Given the description of an element on the screen output the (x, y) to click on. 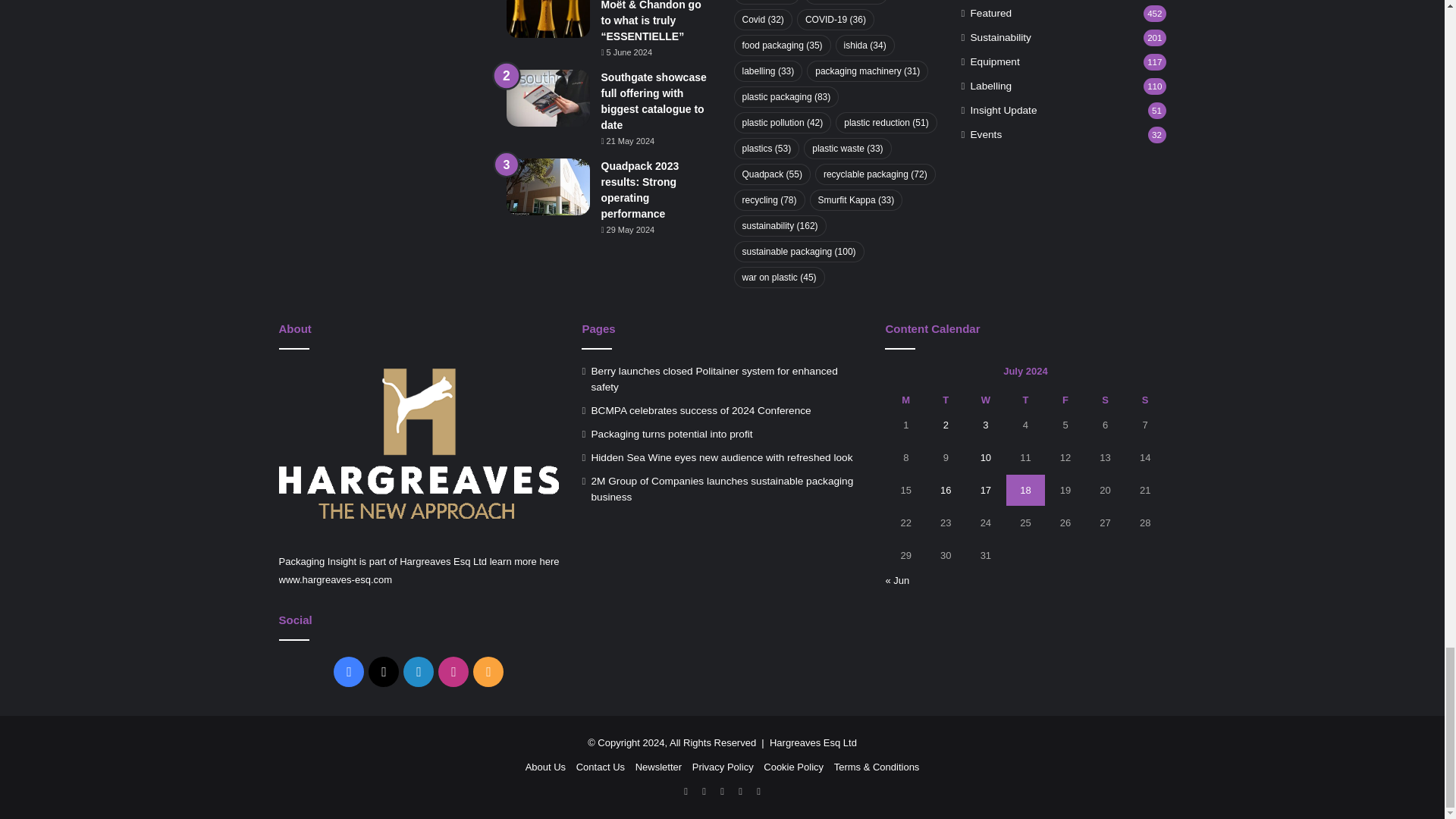
Monday (905, 399)
Tuesday (945, 399)
